Given the description of an element on the screen output the (x, y) to click on. 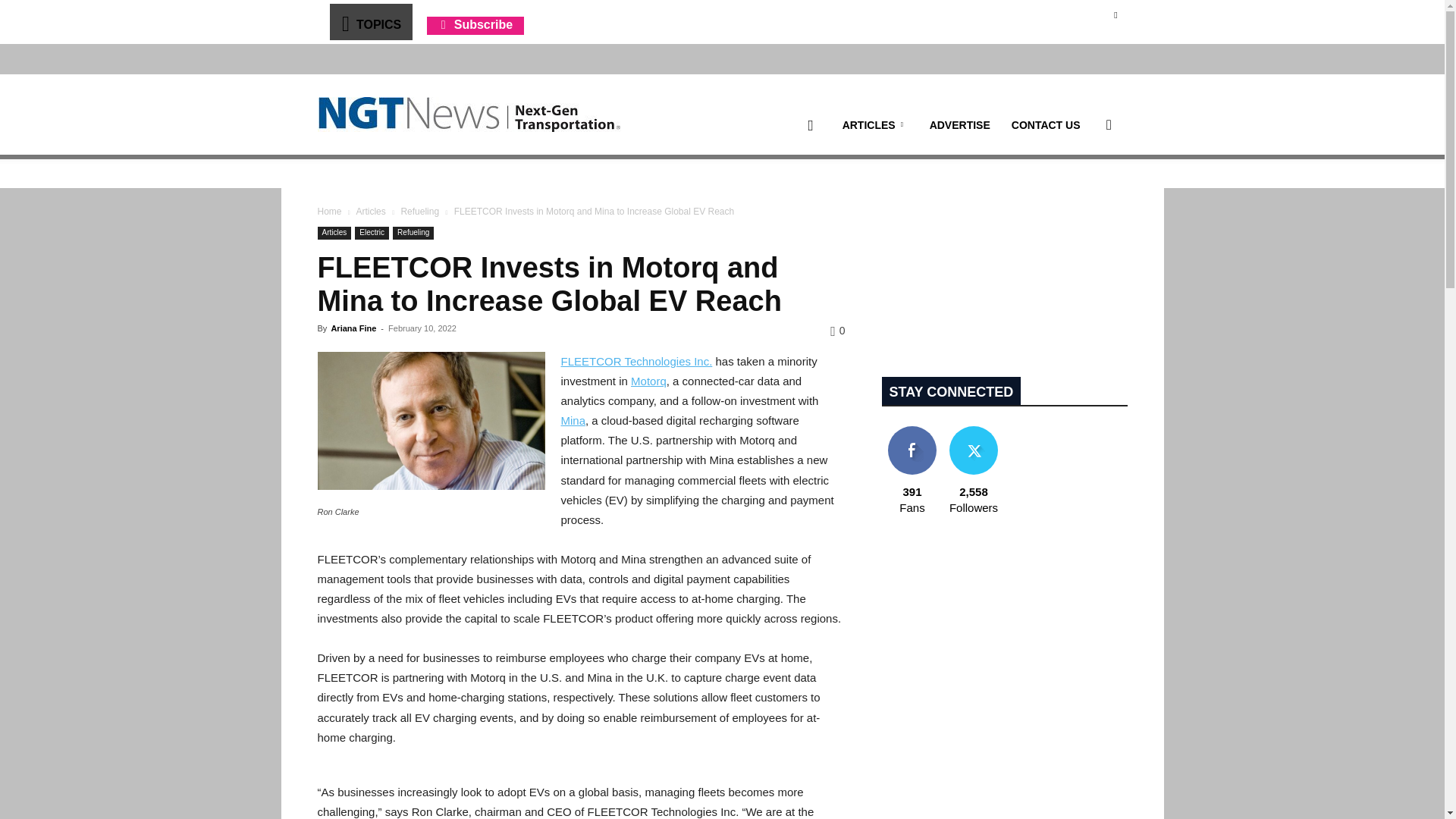
Subscribe (475, 24)
TOPICS (370, 22)
Alternative Fuel News, CNG News (468, 114)
ARTICLES (874, 124)
Twitter (1114, 14)
Search (1085, 197)
NGT News (468, 114)
